Given the description of an element on the screen output the (x, y) to click on. 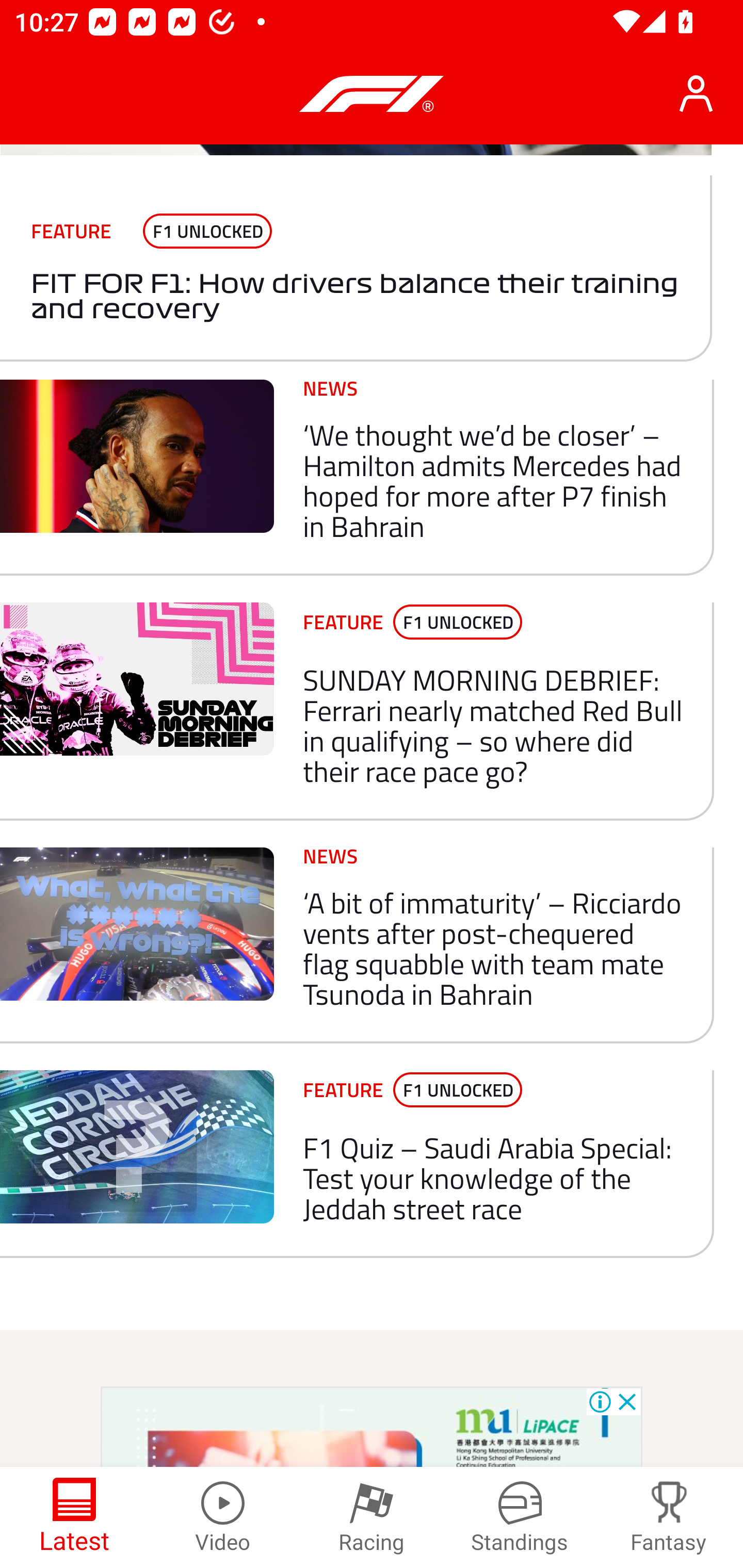
Video (222, 1517)
Racing (371, 1517)
Standings (519, 1517)
Fantasy (668, 1517)
